Given the description of an element on the screen output the (x, y) to click on. 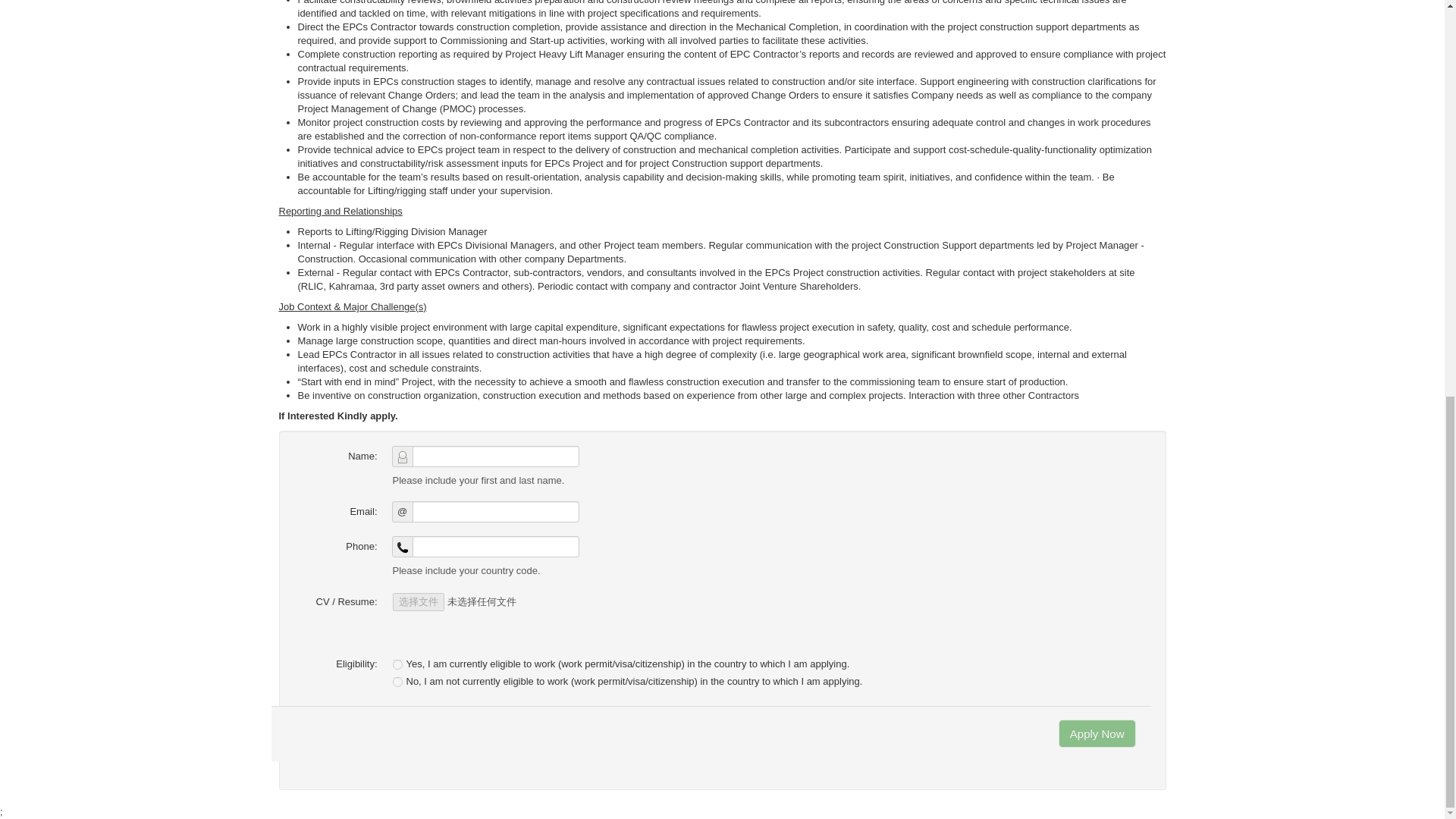
No (398, 682)
Apply Now (1096, 733)
Yes (398, 664)
Apply Now (1096, 733)
